Given the description of an element on the screen output the (x, y) to click on. 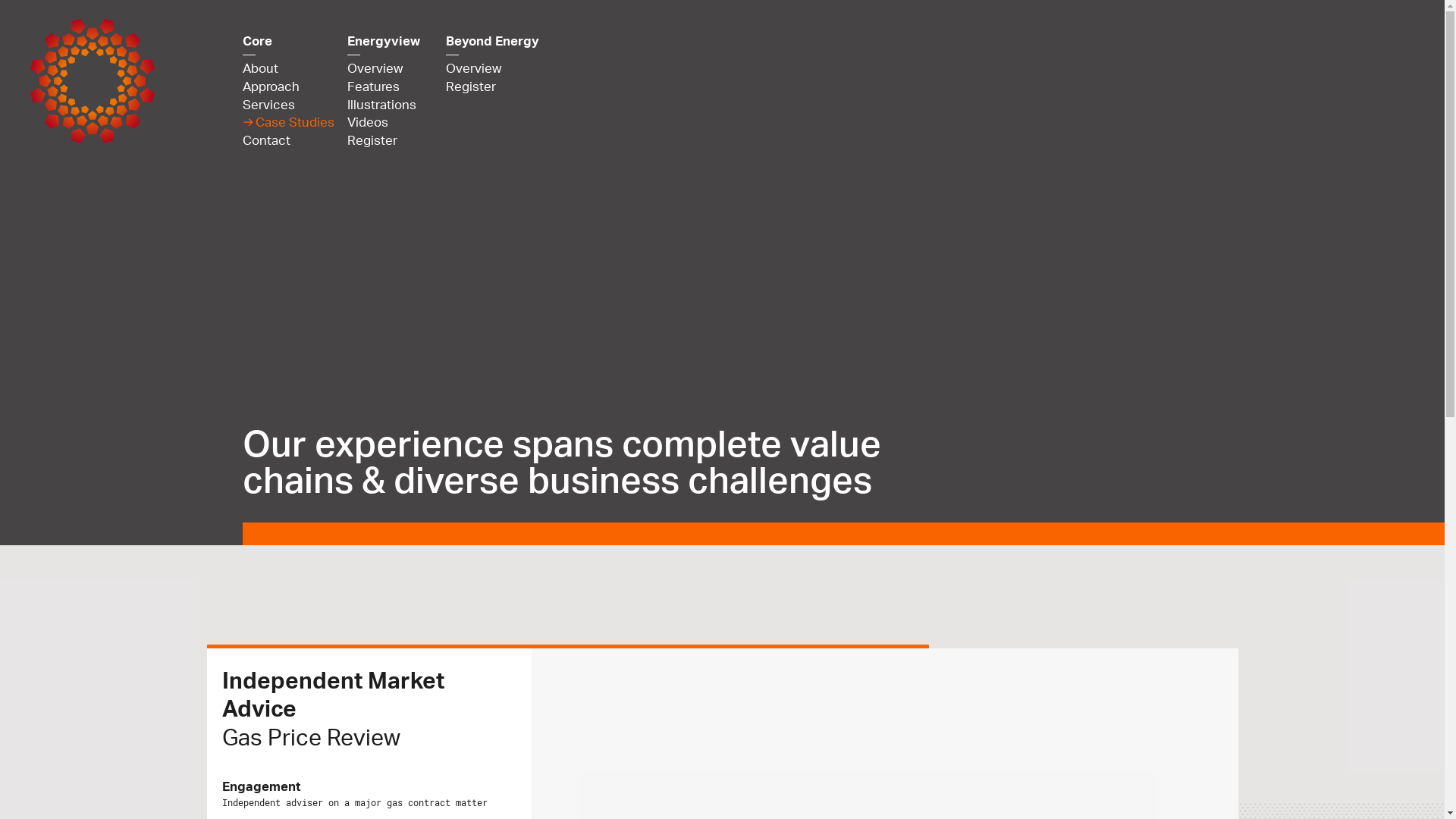
Register Element type: text (383, 140)
Core Energy & Resources Element type: text (121, 79)
Services Element type: text (281, 105)
Beyond Energy Element type: text (492, 40)
Illustrations Element type: text (383, 105)
Register Element type: text (492, 87)
Overview Element type: text (383, 68)
Overview Element type: text (492, 68)
Contact Element type: text (281, 140)
Features Element type: text (383, 87)
Energyview Element type: text (383, 40)
Videos Element type: text (383, 122)
About Element type: text (281, 68)
Core Element type: text (281, 40)
Approach Element type: text (281, 87)
Case Studies Element type: text (294, 122)
